Given the description of an element on the screen output the (x, y) to click on. 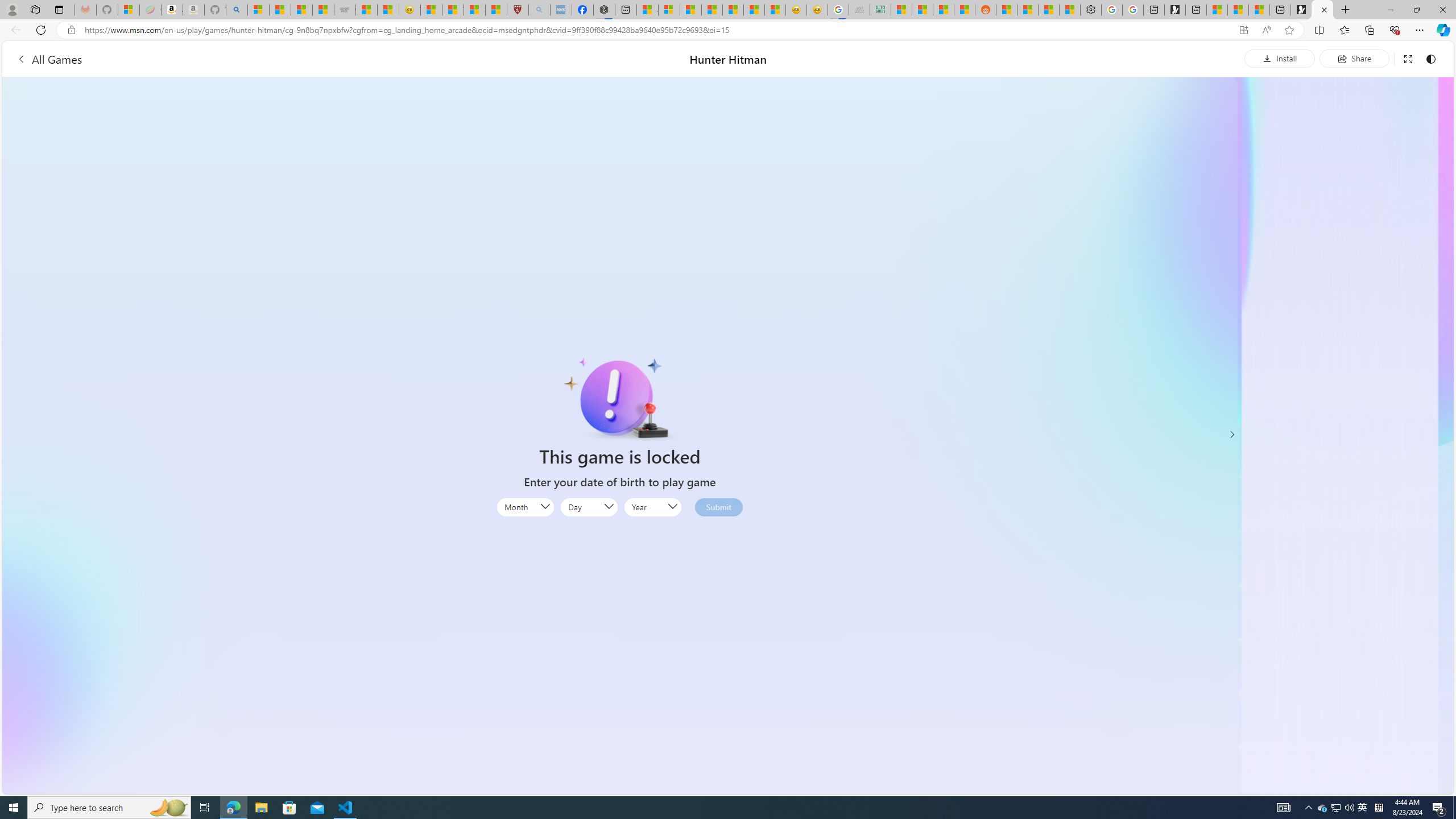
Settings (1090, 9)
14 Common Myths Debunked By Scientific Facts (712, 9)
Share (1353, 58)
Day (588, 506)
Navy Quest (859, 9)
Fitness - MSN (732, 9)
R******* | Trusted Community Engagement and Contributions (1006, 9)
Change to dark mode (1430, 58)
Play Free Online Games | Games from Microsoft Start (1300, 9)
